Given the description of an element on the screen output the (x, y) to click on. 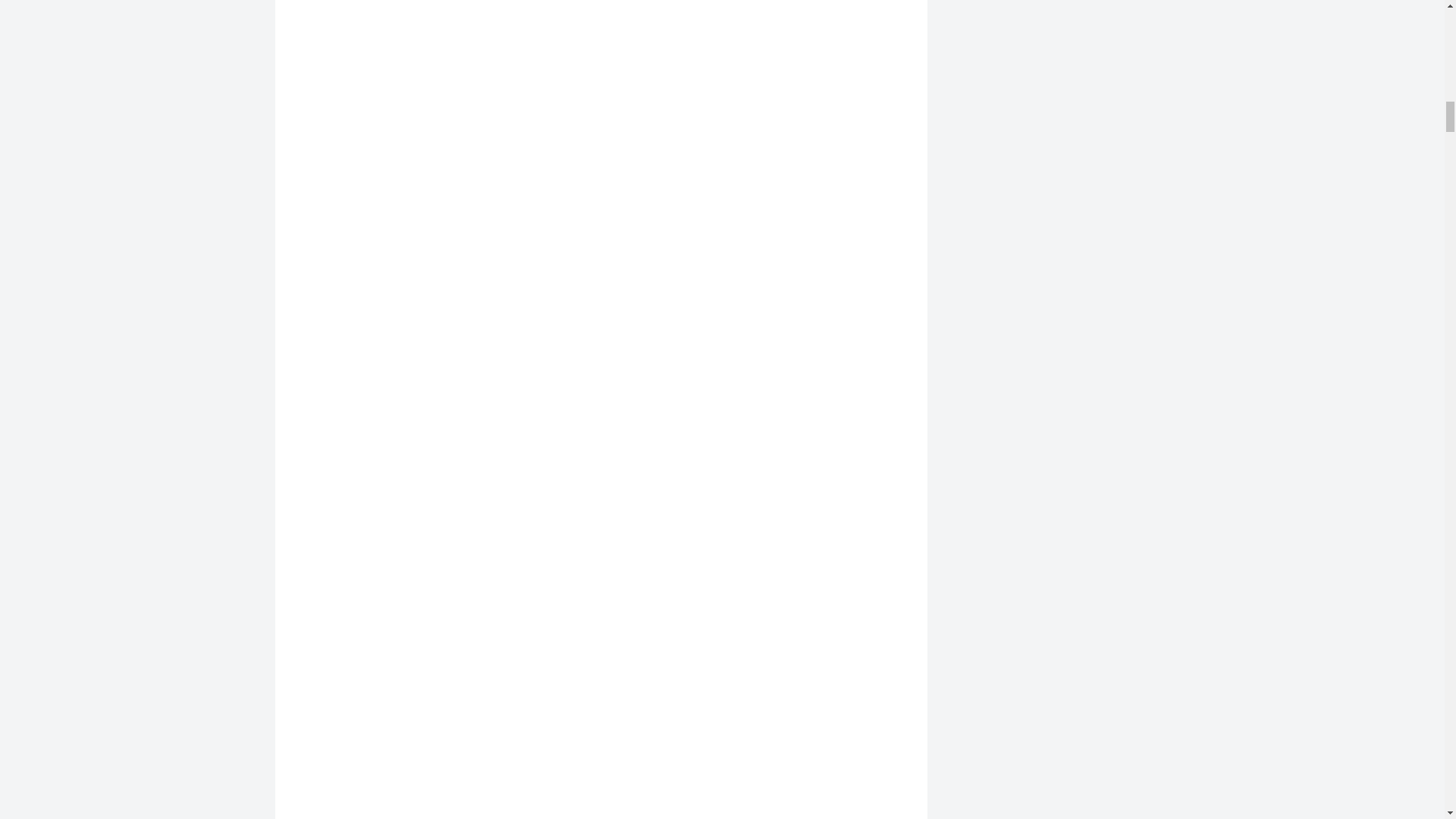
X Post (600, 47)
